Given the description of an element on the screen output the (x, y) to click on. 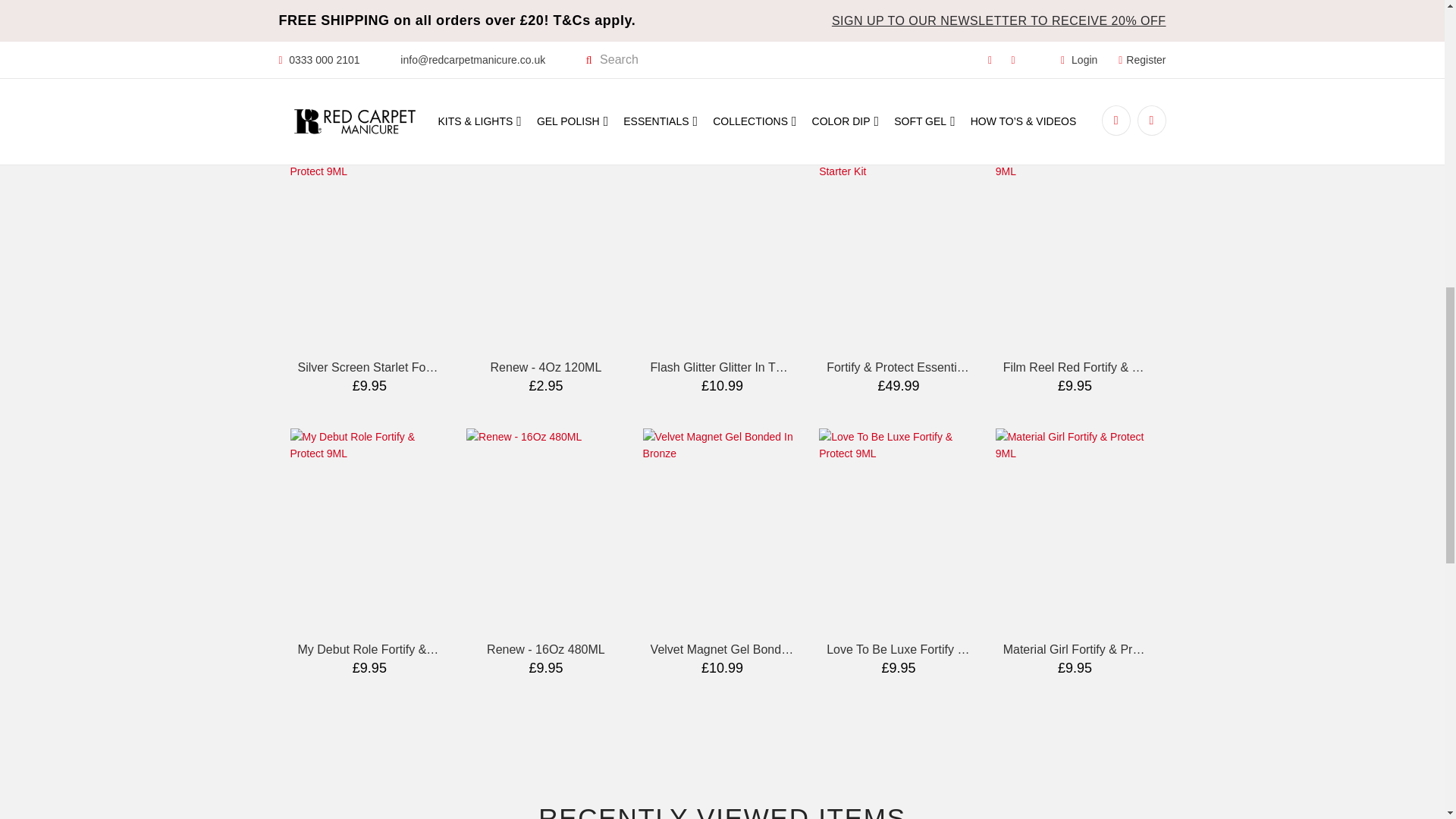
Renew - 16Oz 480ML (545, 649)
Renew - 4Oz 120ML (546, 367)
Flash Glitter Glitter In The Air (728, 367)
Velvet Magnet Gel Bonded In Bronze (750, 649)
